Given the description of an element on the screen output the (x, y) to click on. 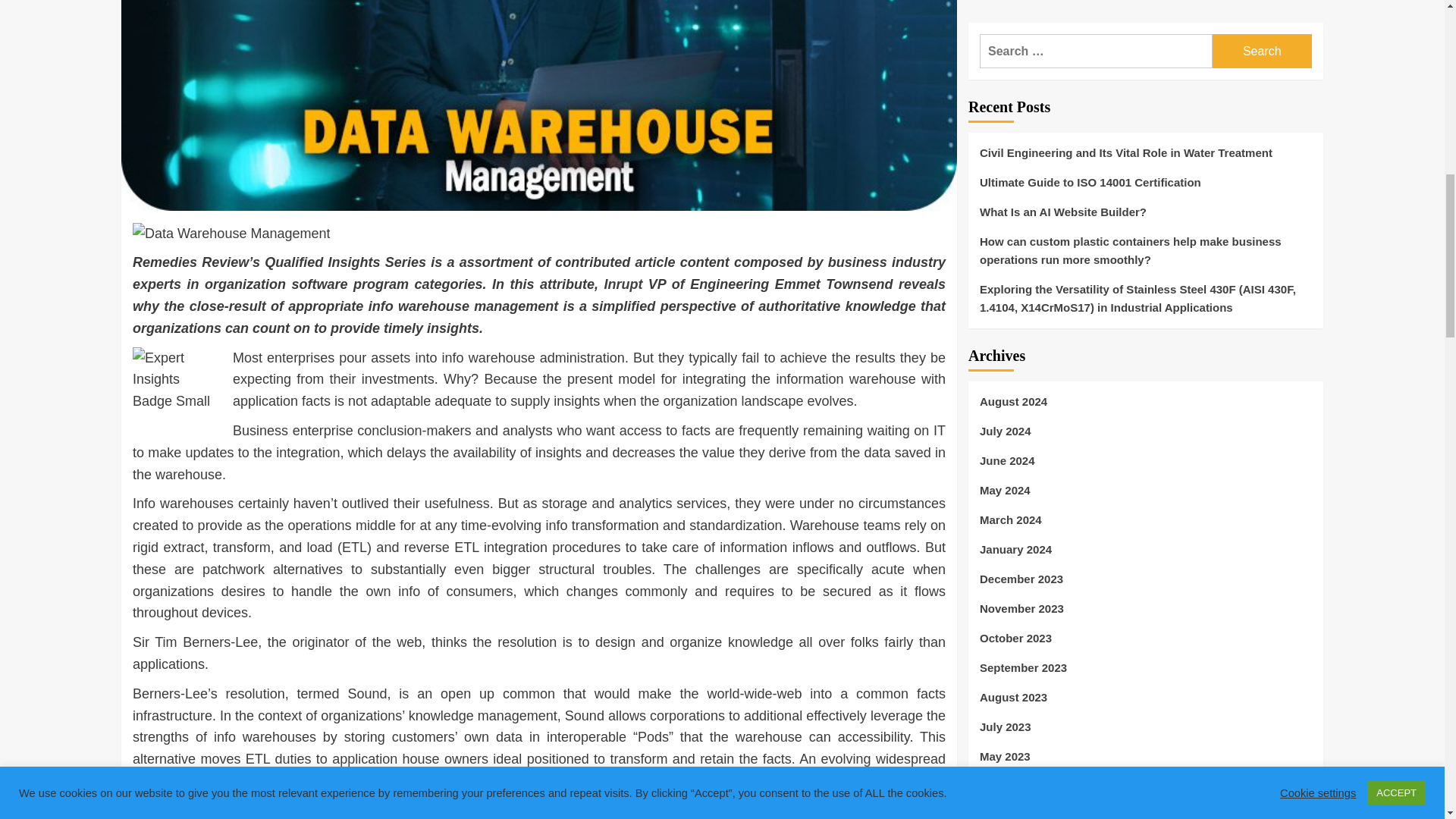
Inrupt (623, 283)
